Given the description of an element on the screen output the (x, y) to click on. 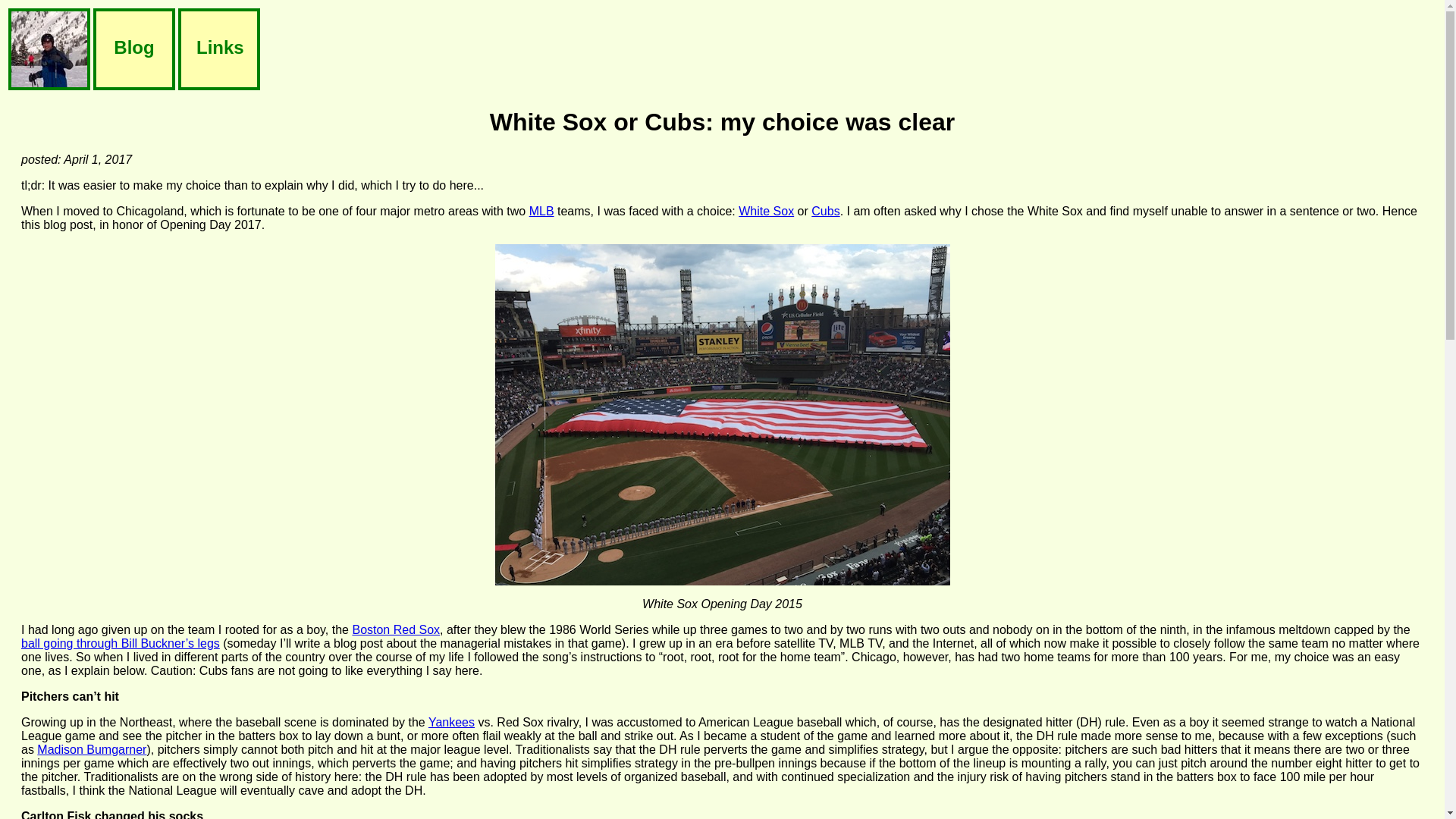
Yankees (451, 721)
Links (218, 49)
Boston Red Sox (395, 629)
Blog (133, 49)
Cubs (825, 210)
MLB (541, 210)
Madison Bumgarner (92, 748)
White Sox (765, 210)
